Given the description of an element on the screen output the (x, y) to click on. 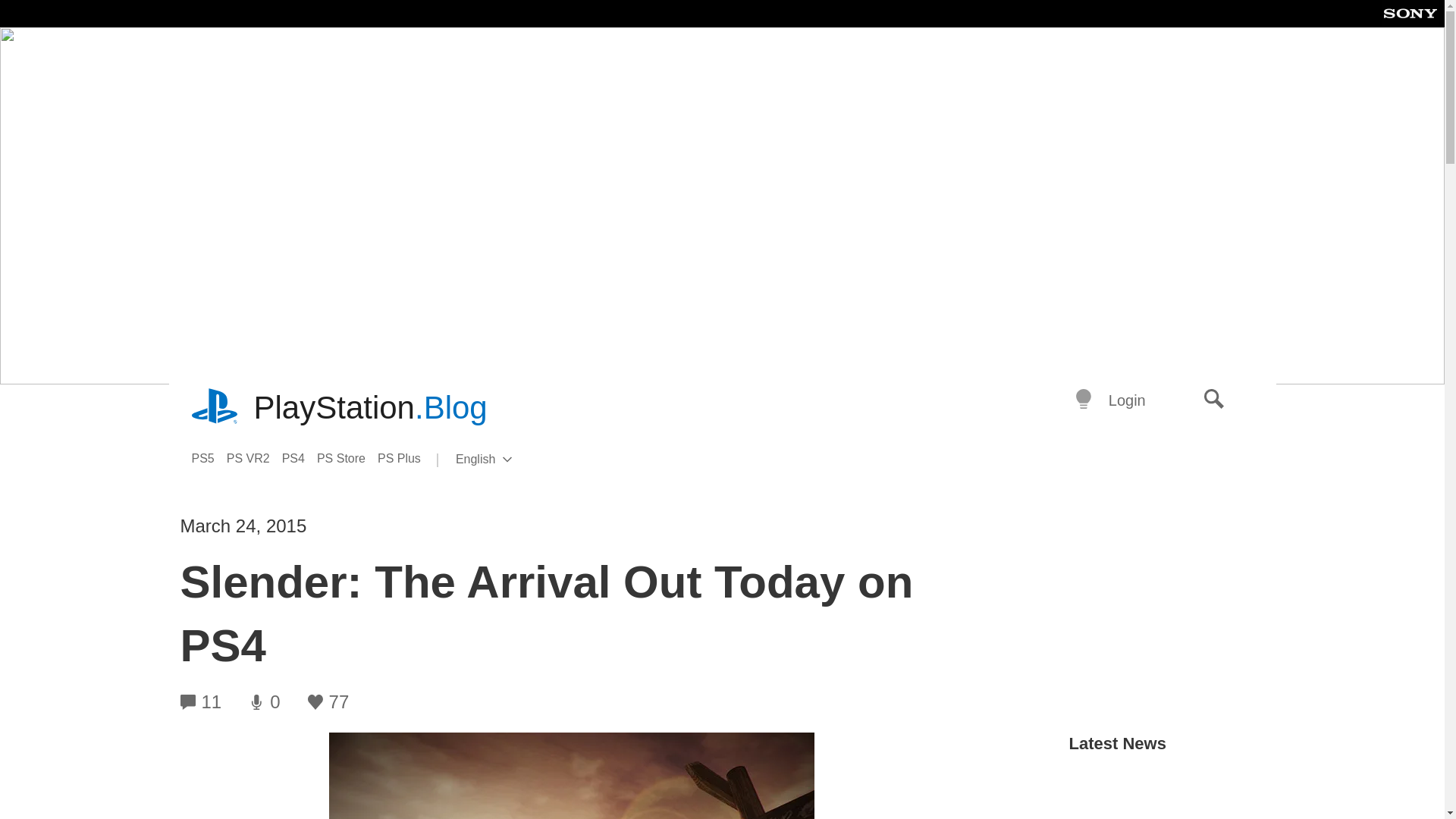
PS Plus (404, 458)
PS5 (207, 458)
PS Store (347, 458)
PS VR2 (254, 458)
Login (1126, 400)
playstation.com (215, 408)
PS4 (508, 459)
PlayStation.Blog (299, 458)
Skip to content (369, 407)
